Given the description of an element on the screen output the (x, y) to click on. 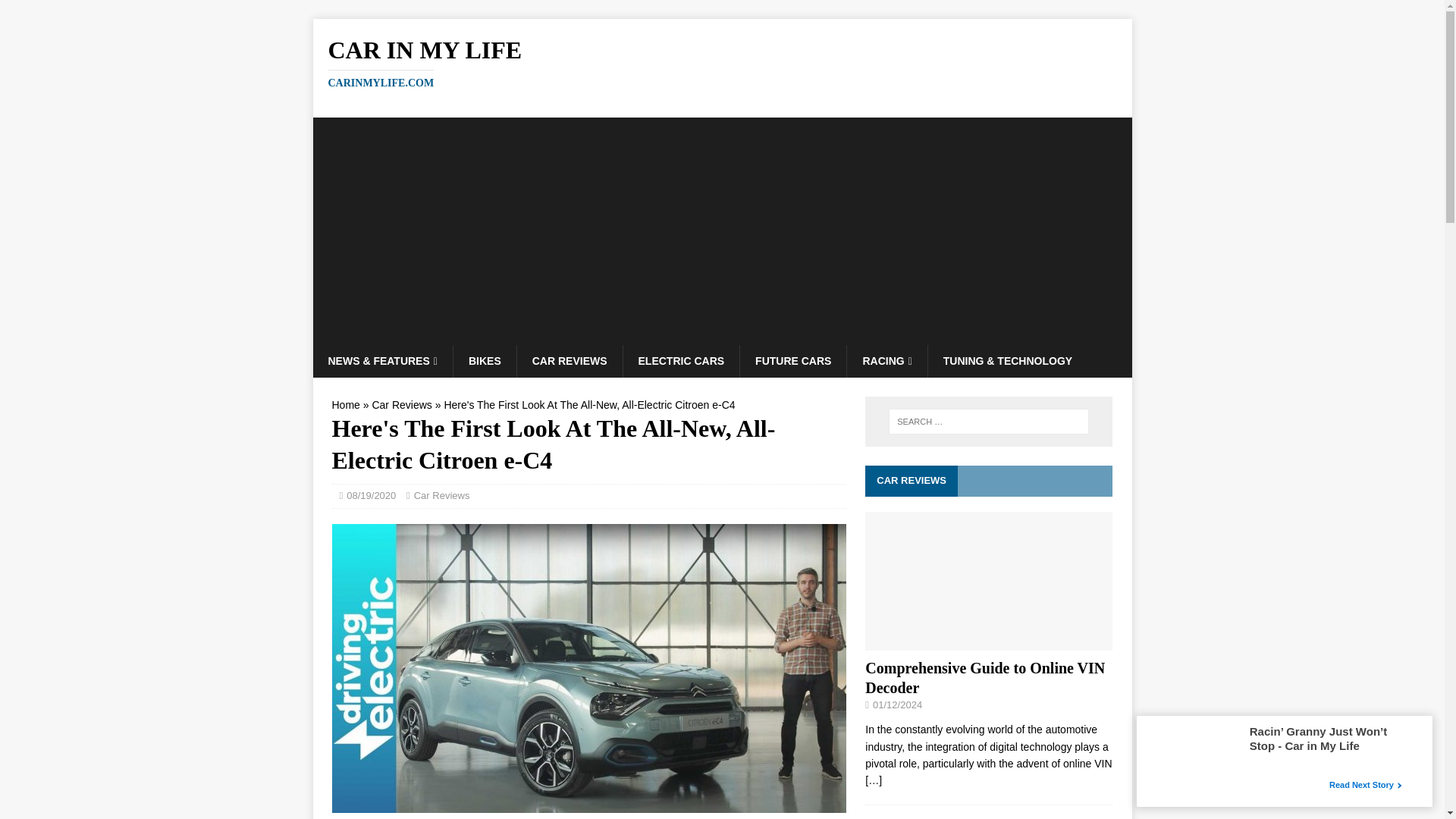
RACING (885, 360)
Home (345, 404)
Car Reviews (400, 404)
FUTURE CARS (792, 360)
Car in My Life (721, 62)
BIKES (484, 360)
ELECTRIC CARS (681, 360)
CAR REVIEWS (569, 360)
Car Reviews (441, 495)
